Given the description of an element on the screen output the (x, y) to click on. 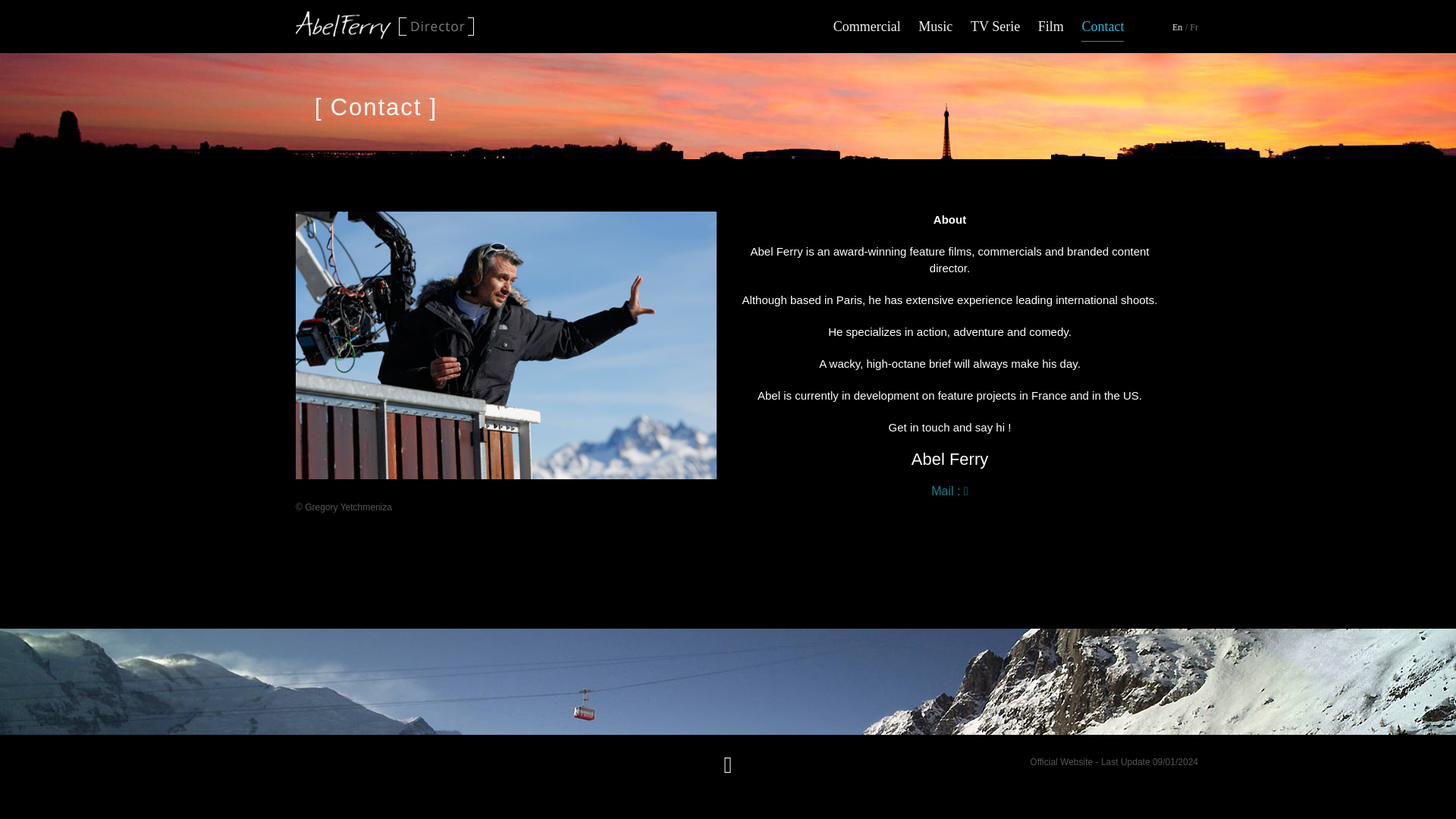
Contact (1102, 20)
TV Serie (995, 20)
Mail : (949, 490)
Commercial (866, 20)
